Given the description of an element on the screen output the (x, y) to click on. 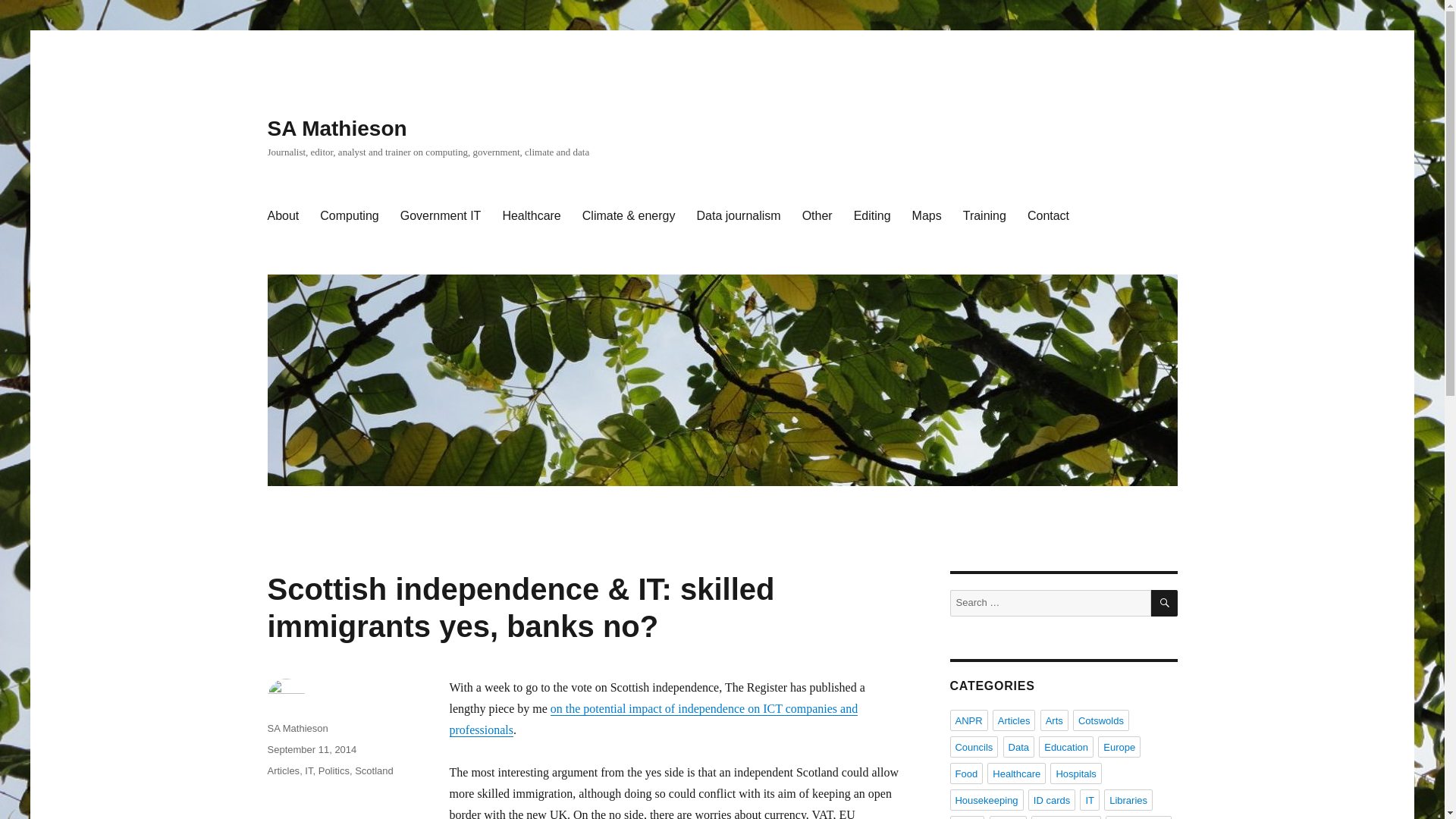
ANPR (968, 720)
Training (984, 215)
Education (1066, 746)
Contact (1048, 215)
Housekeeping (986, 799)
Maps (926, 215)
Editing (872, 215)
Government IT (441, 215)
Data journalism (737, 215)
Computing (348, 215)
